Given the description of an element on the screen output the (x, y) to click on. 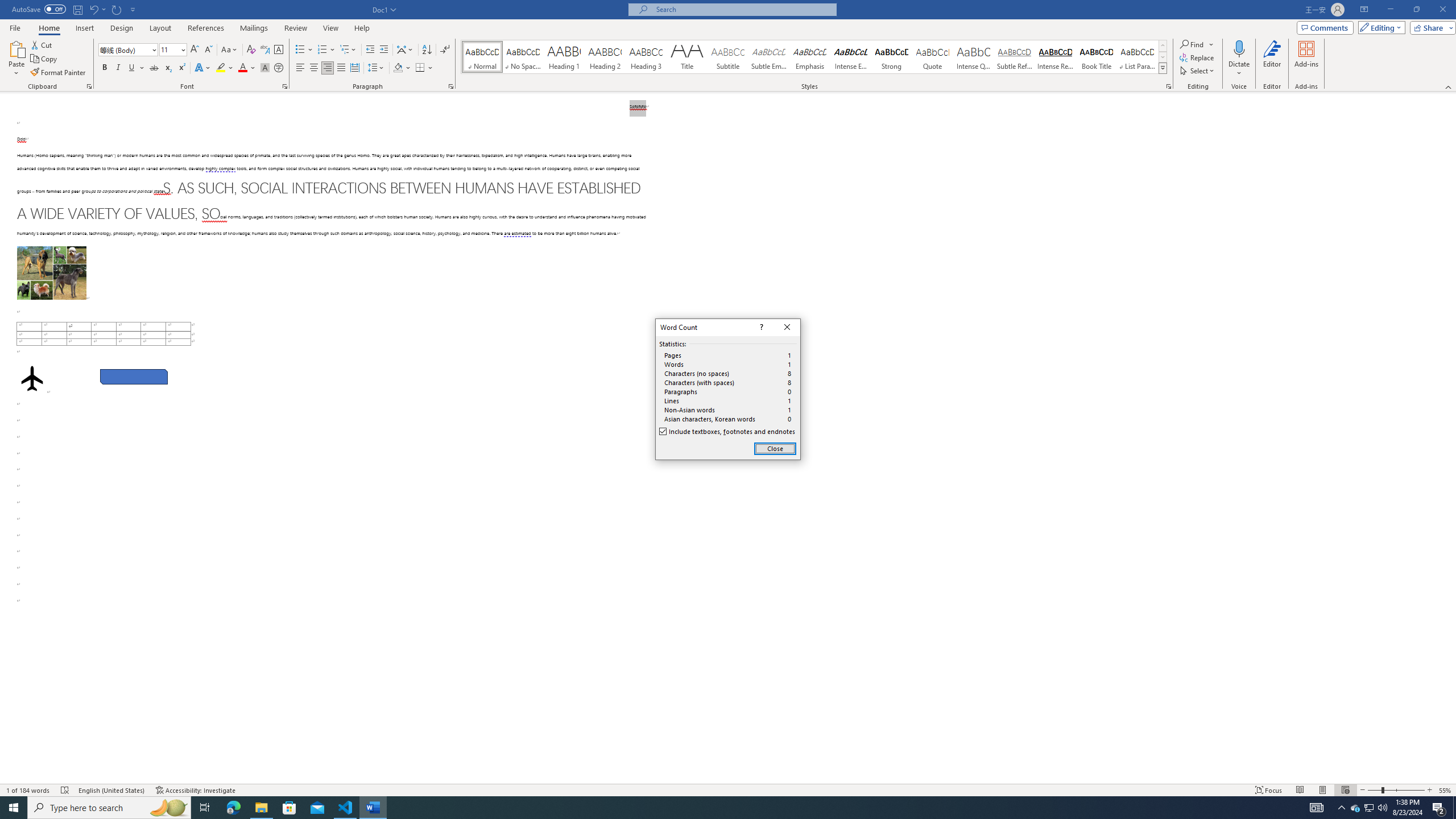
Airplane with solid fill (31, 378)
Undo Paragraph Alignment (92, 9)
File Explorer - 1 running window (261, 807)
Undo Paragraph Alignment (96, 9)
